Given the description of an element on the screen output the (x, y) to click on. 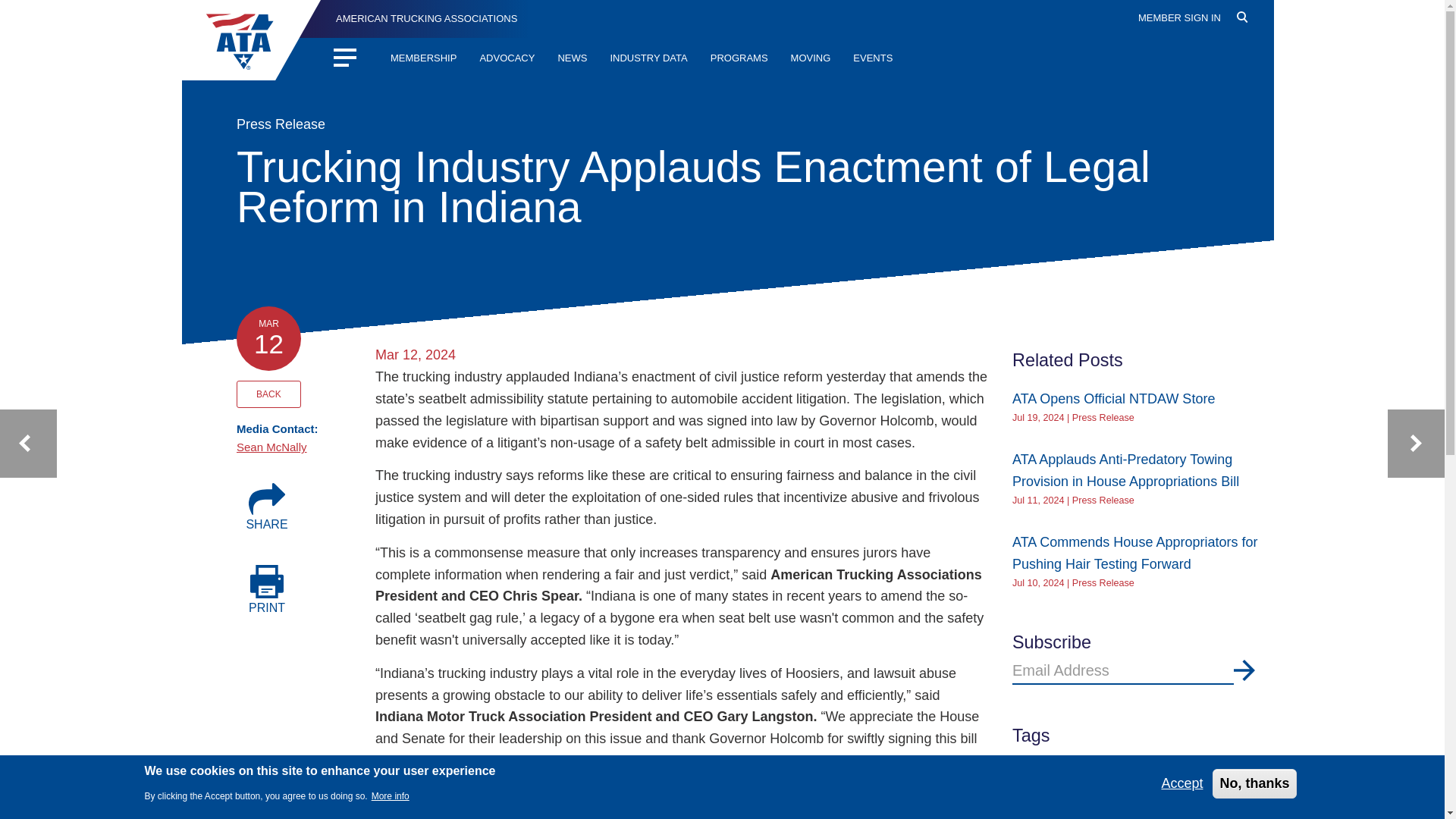
Toggle navigation (341, 54)
NEWS (572, 58)
Link to Home around Site Logo image (256, 40)
MEMBER SIGN IN (1179, 17)
ADVOCACY (506, 58)
MOVING (810, 58)
EVENTS (872, 58)
INDUSTRY DATA (648, 58)
AMERICAN TRUCKING ASSOCIATIONS (413, 18)
Link to Home (413, 18)
Search (1251, 43)
MEMBERSHIP (422, 58)
PROGRAMS (738, 58)
